Given the description of an element on the screen output the (x, y) to click on. 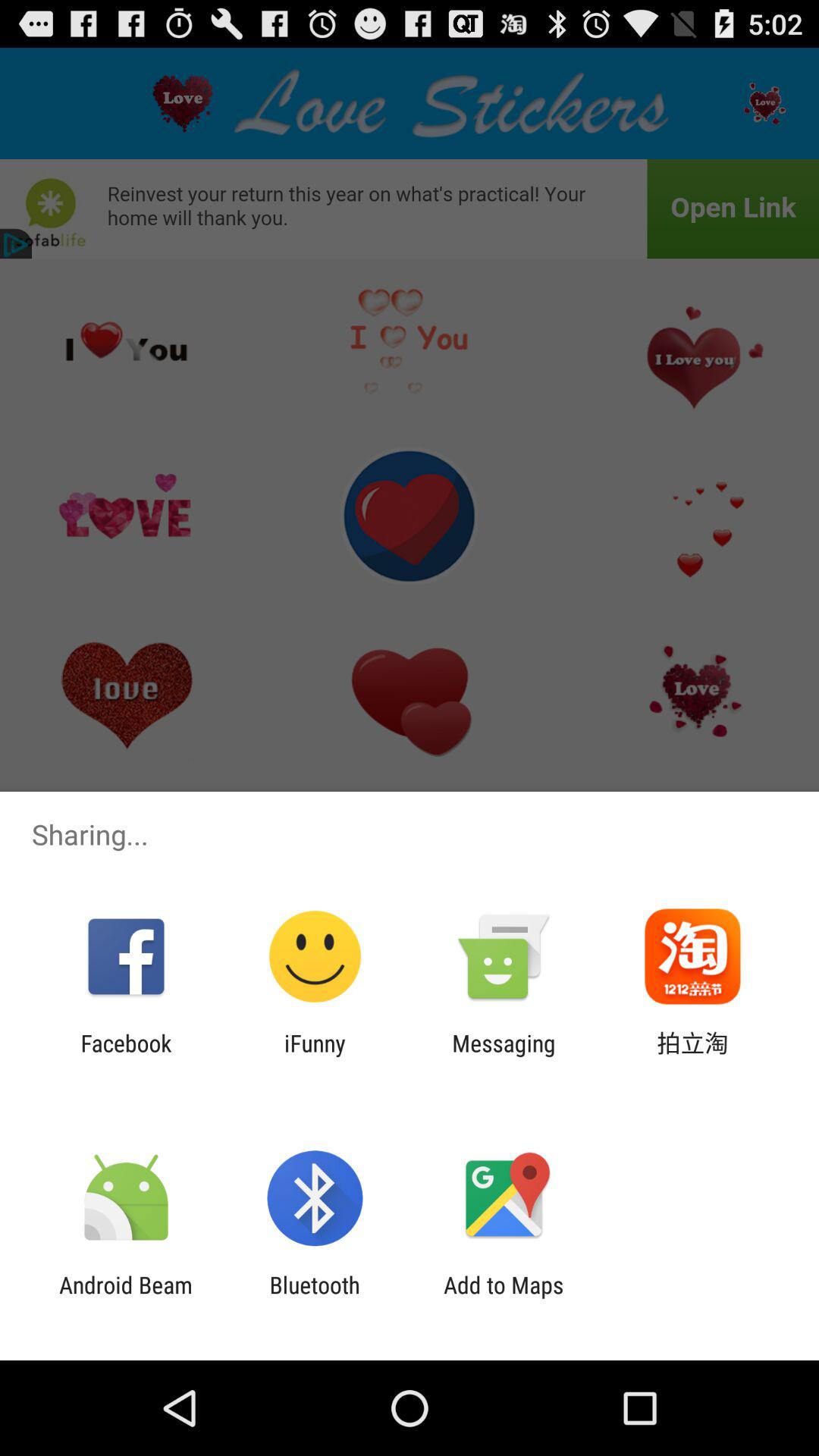
press the icon to the left of bluetooth (125, 1298)
